Given the description of an element on the screen output the (x, y) to click on. 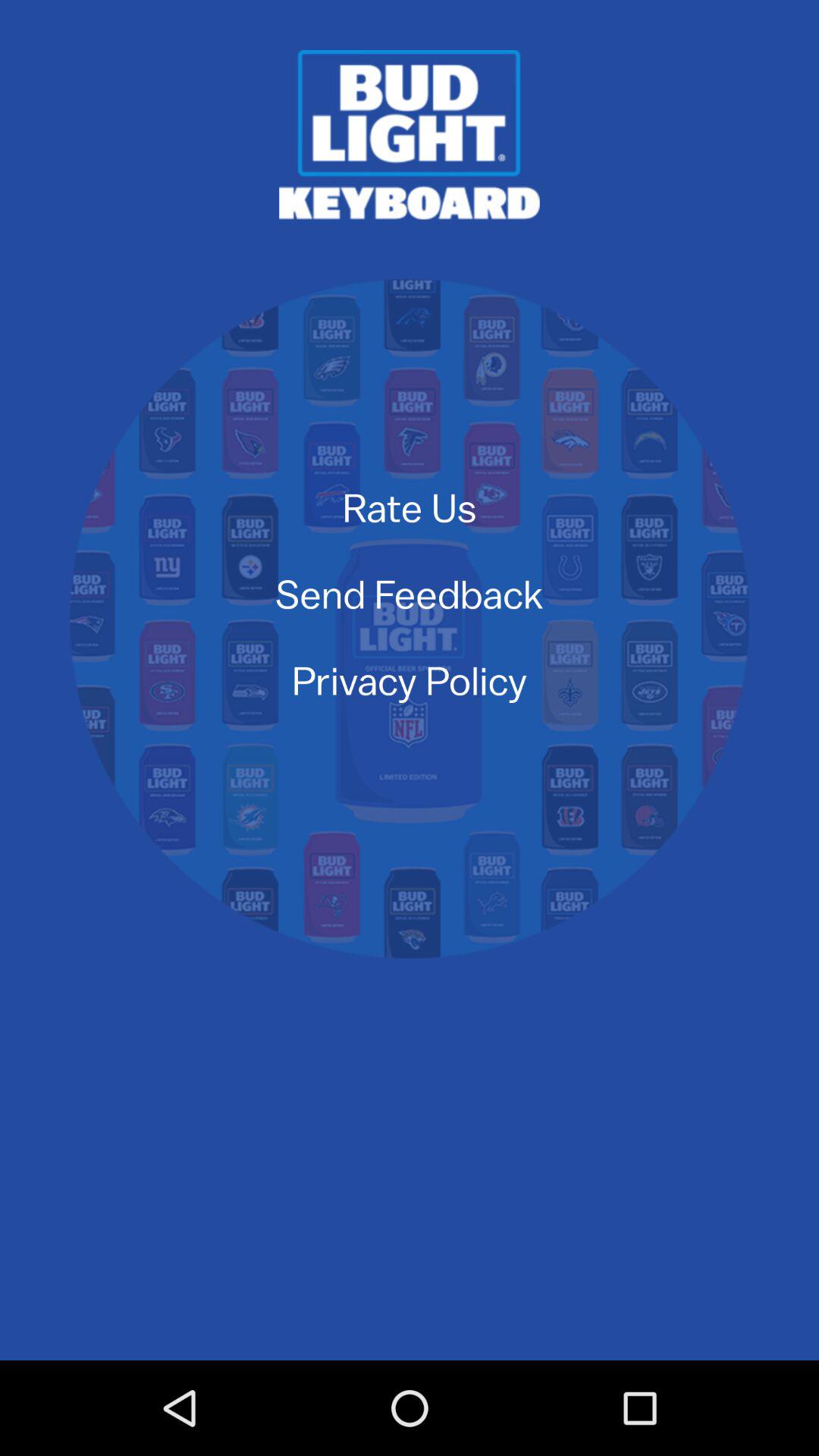
select the item above send feedback item (409, 507)
